Given the description of an element on the screen output the (x, y) to click on. 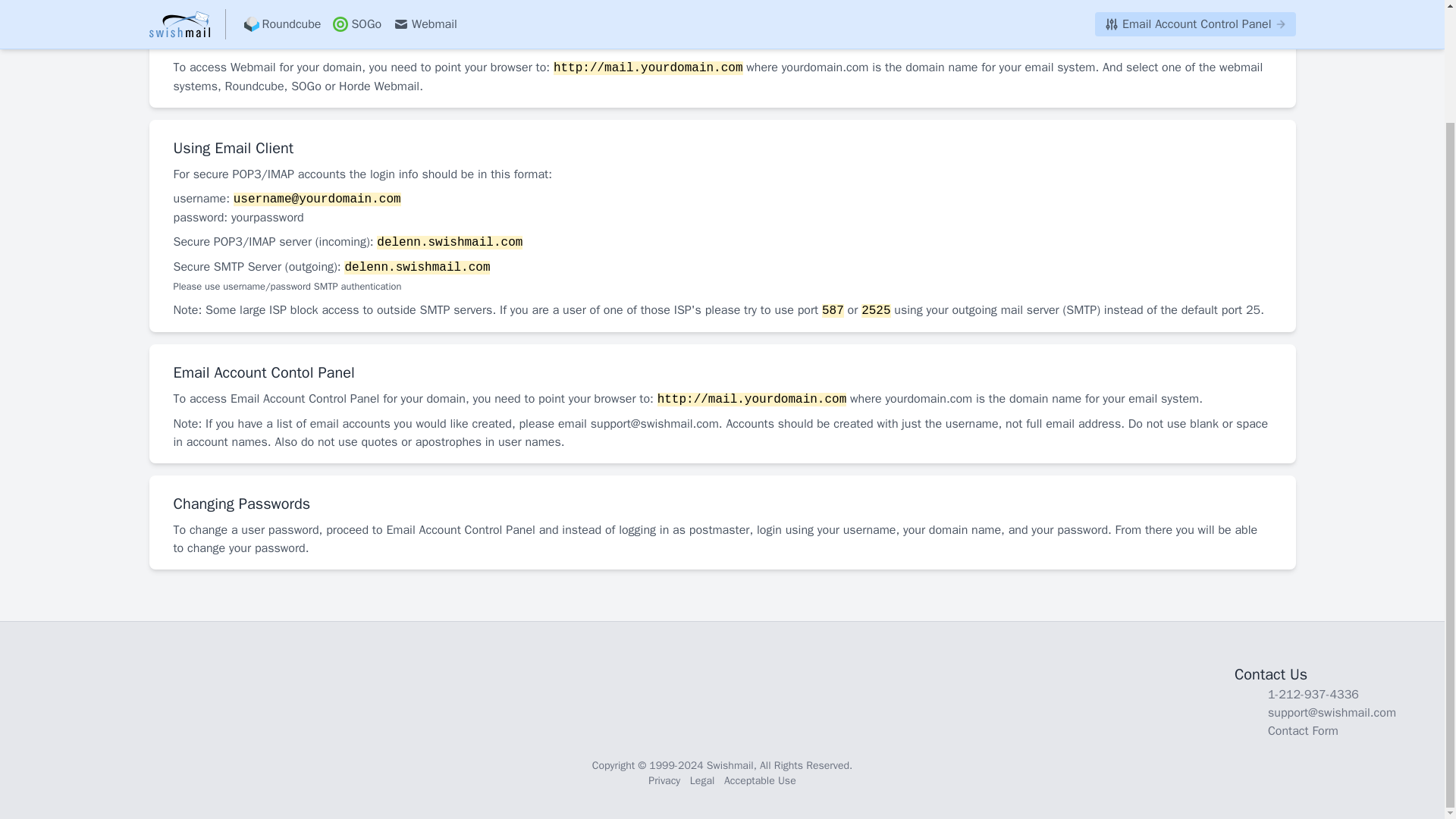
Acceptable Use (759, 780)
Privacy (663, 780)
1-212-937-4336 (1313, 694)
Contact Form (1303, 730)
Swishmail (730, 765)
Legal (702, 780)
